Given the description of an element on the screen output the (x, y) to click on. 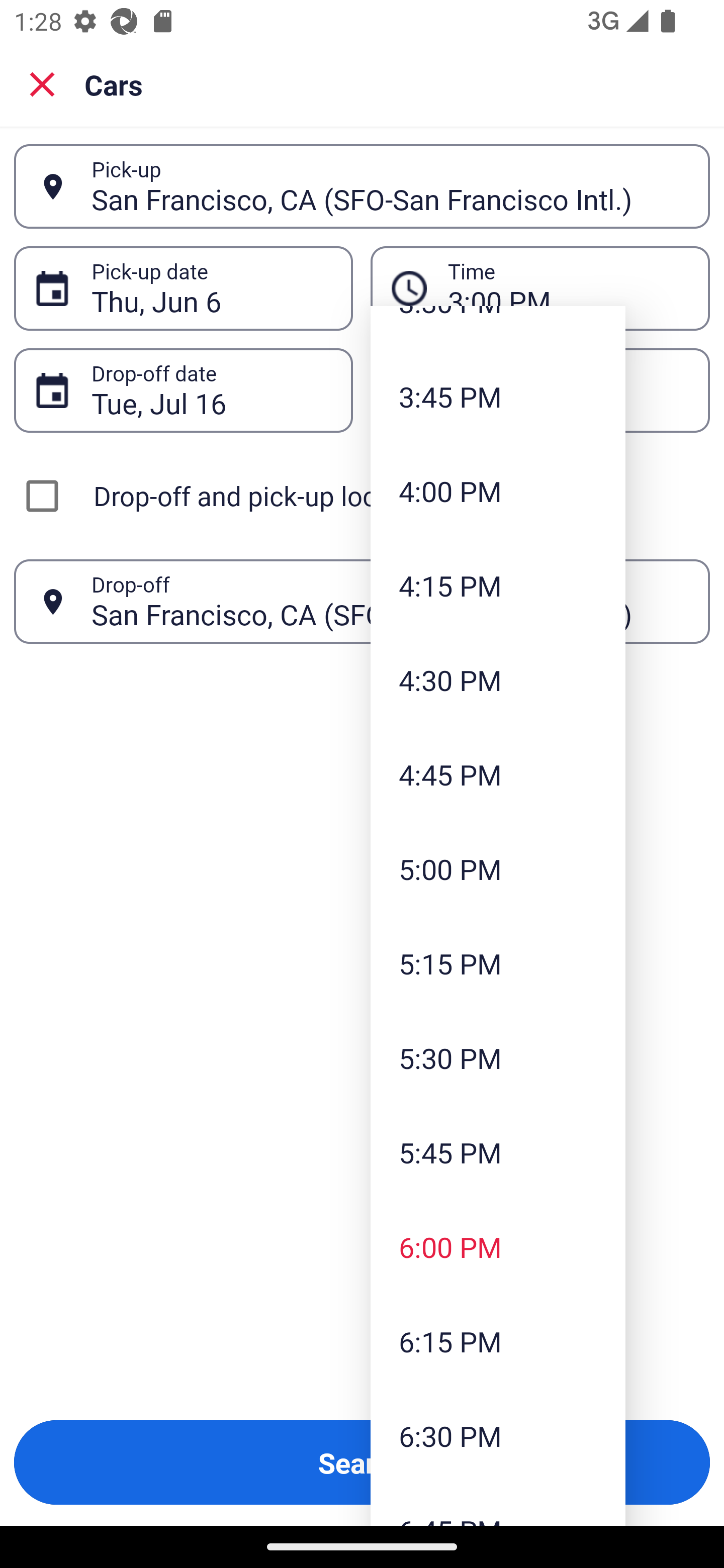
3:45 PM (497, 396)
4:00 PM (497, 490)
4:15 PM (497, 585)
4:30 PM (497, 680)
4:45 PM (497, 774)
5:00 PM (497, 868)
5:15 PM (497, 963)
5:30 PM (497, 1058)
5:45 PM (497, 1152)
6:00 PM (497, 1246)
6:15 PM (497, 1341)
6:30 PM (497, 1436)
